Given the description of an element on the screen output the (x, y) to click on. 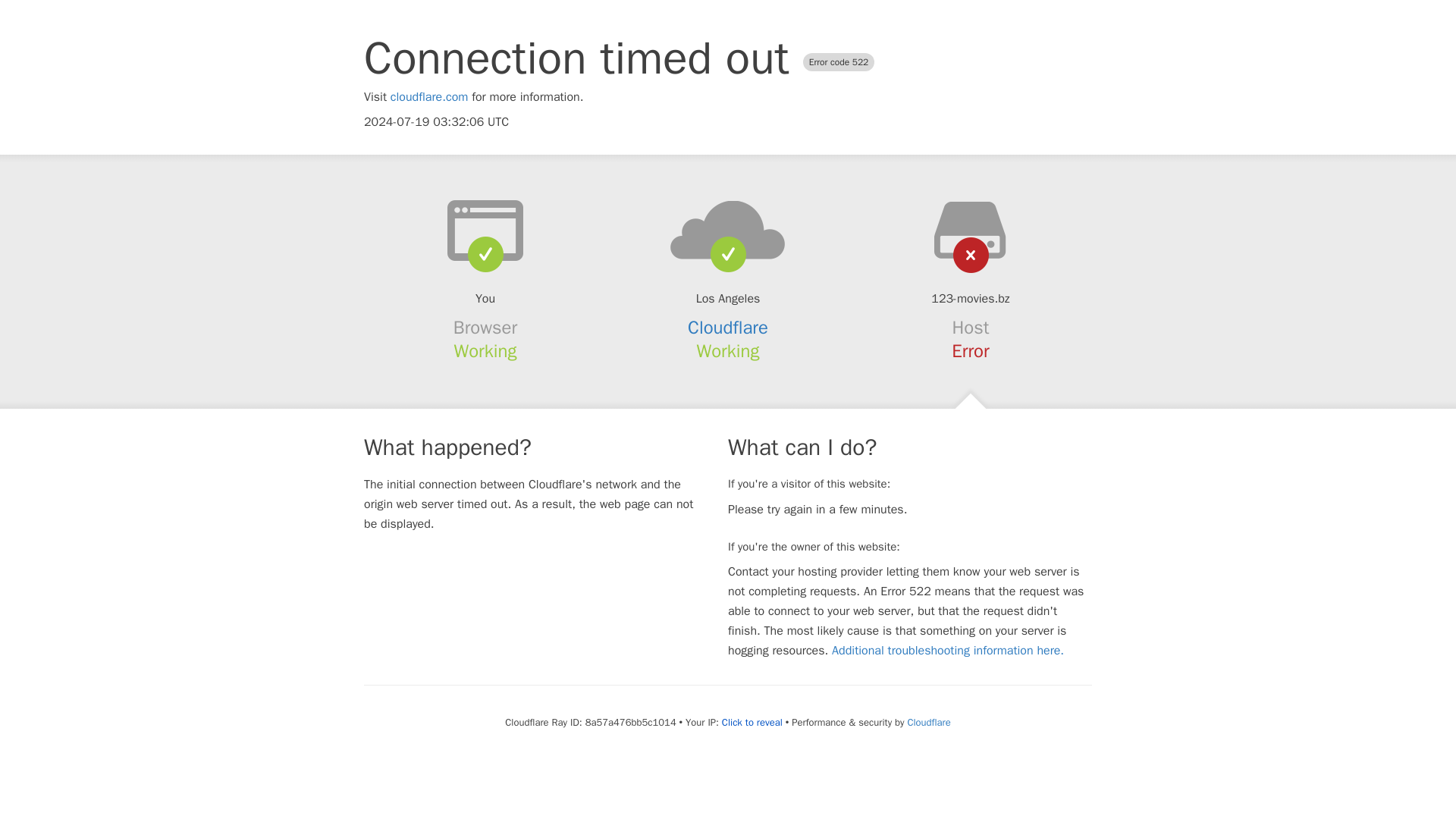
Additional troubleshooting information here. (947, 650)
Click to reveal (752, 722)
cloudflare.com (429, 96)
Cloudflare (727, 327)
Cloudflare (928, 721)
